Given the description of an element on the screen output the (x, y) to click on. 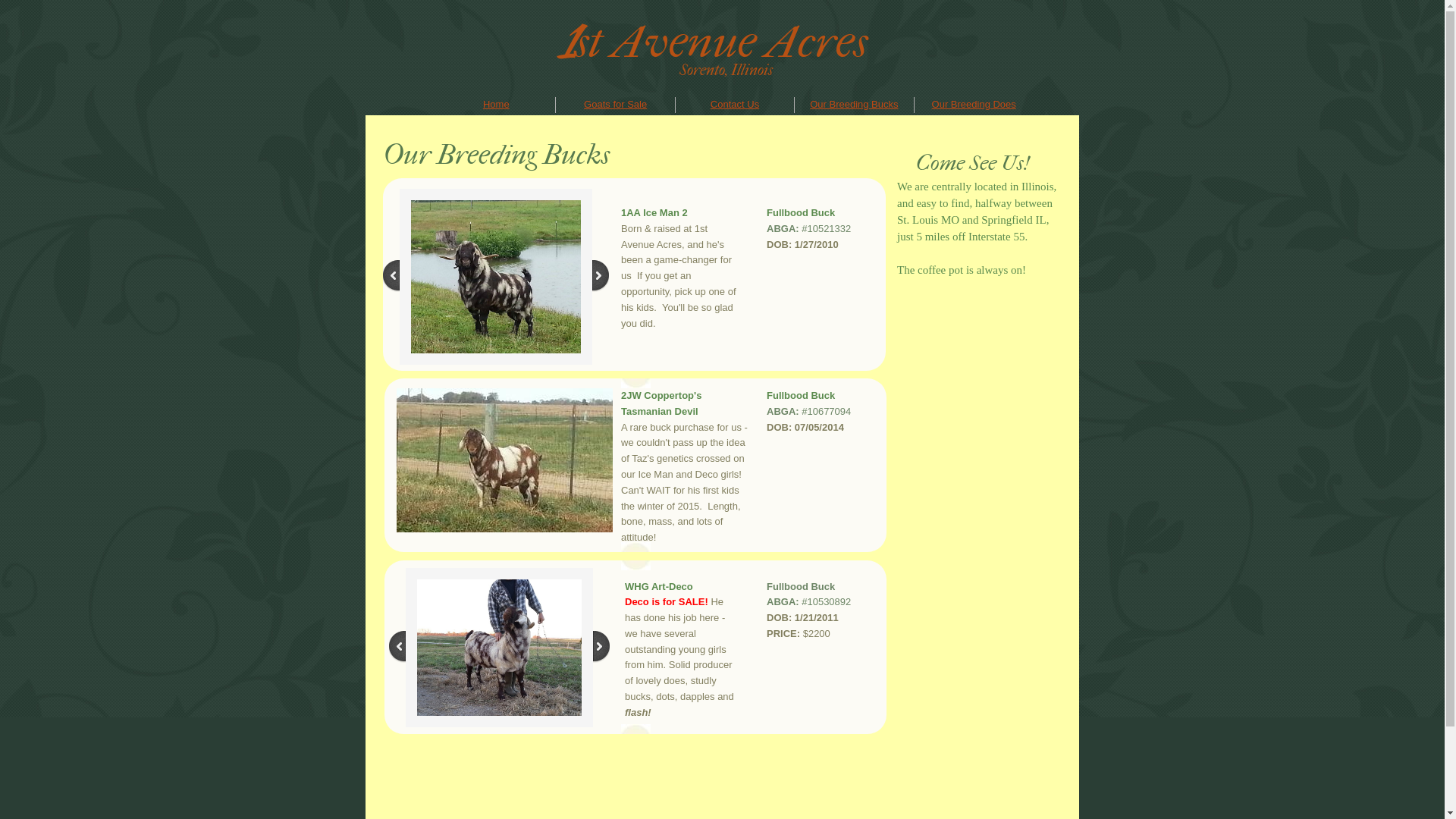
Home Element type: text (496, 103)
Contact Us Element type: text (734, 103)
Our Breeding Bucks Element type: text (853, 103)
Our Breeding Does Element type: text (973, 103)
Goats for Sale Element type: text (614, 103)
